Given the description of an element on the screen output the (x, y) to click on. 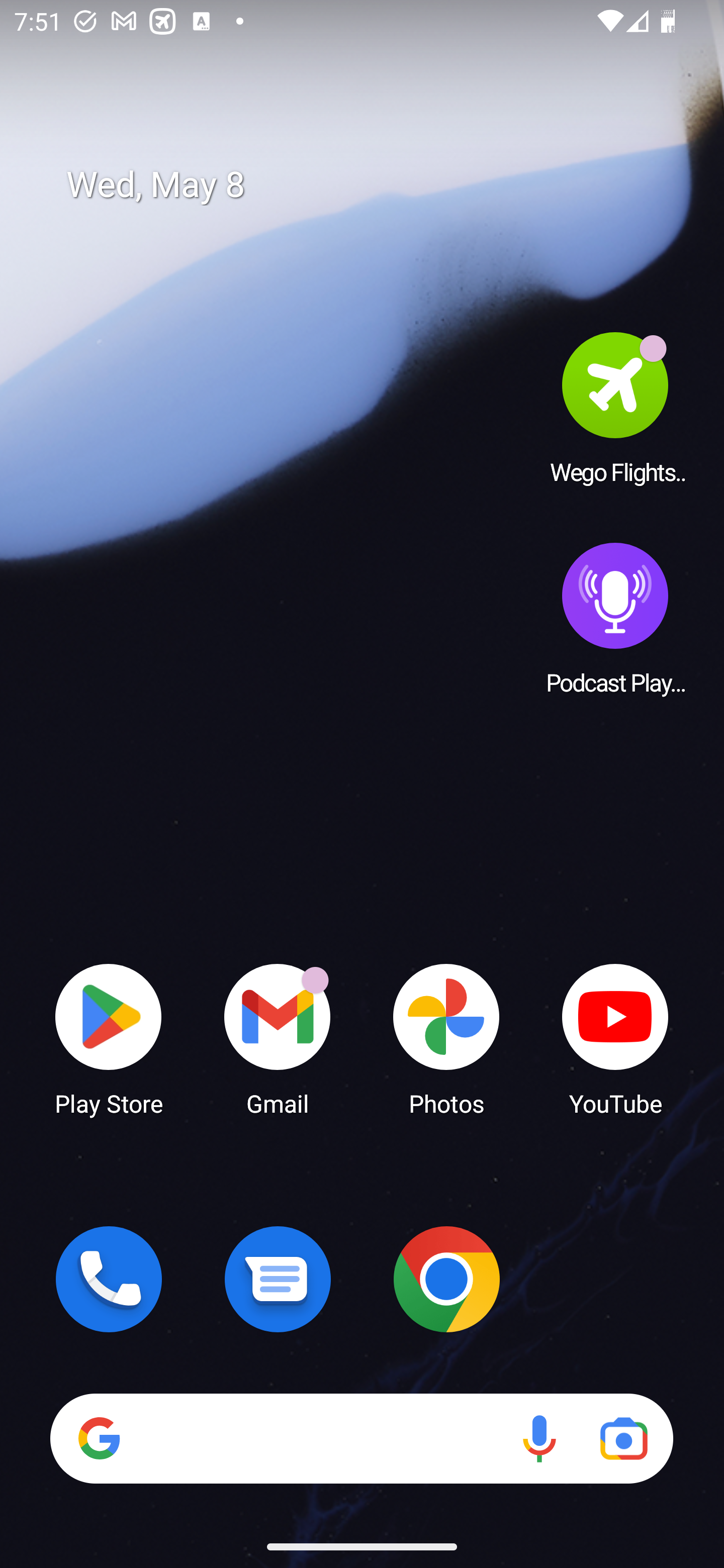
Wed, May 8 (375, 184)
Podcast Player (615, 617)
Play Store (108, 1038)
Gmail Gmail has 17 notifications (277, 1038)
Photos (445, 1038)
YouTube (615, 1038)
Phone (108, 1279)
Messages (277, 1279)
Chrome (446, 1279)
Voice search (539, 1438)
Google Lens (623, 1438)
